Given the description of an element on the screen output the (x, y) to click on. 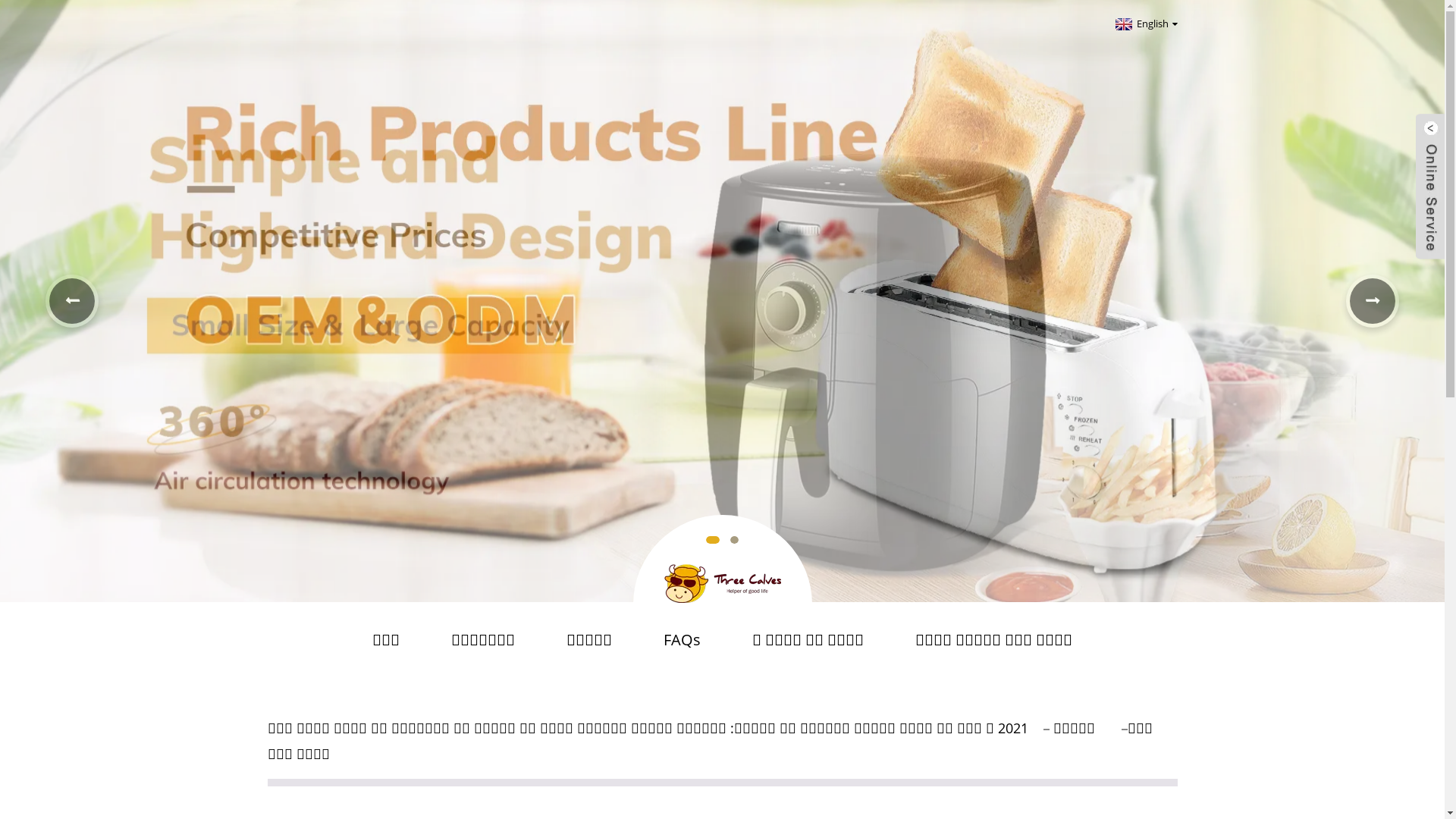
English Element type: text (1144, 23)
FAQs Element type: text (681, 639)
